Given the description of an element on the screen output the (x, y) to click on. 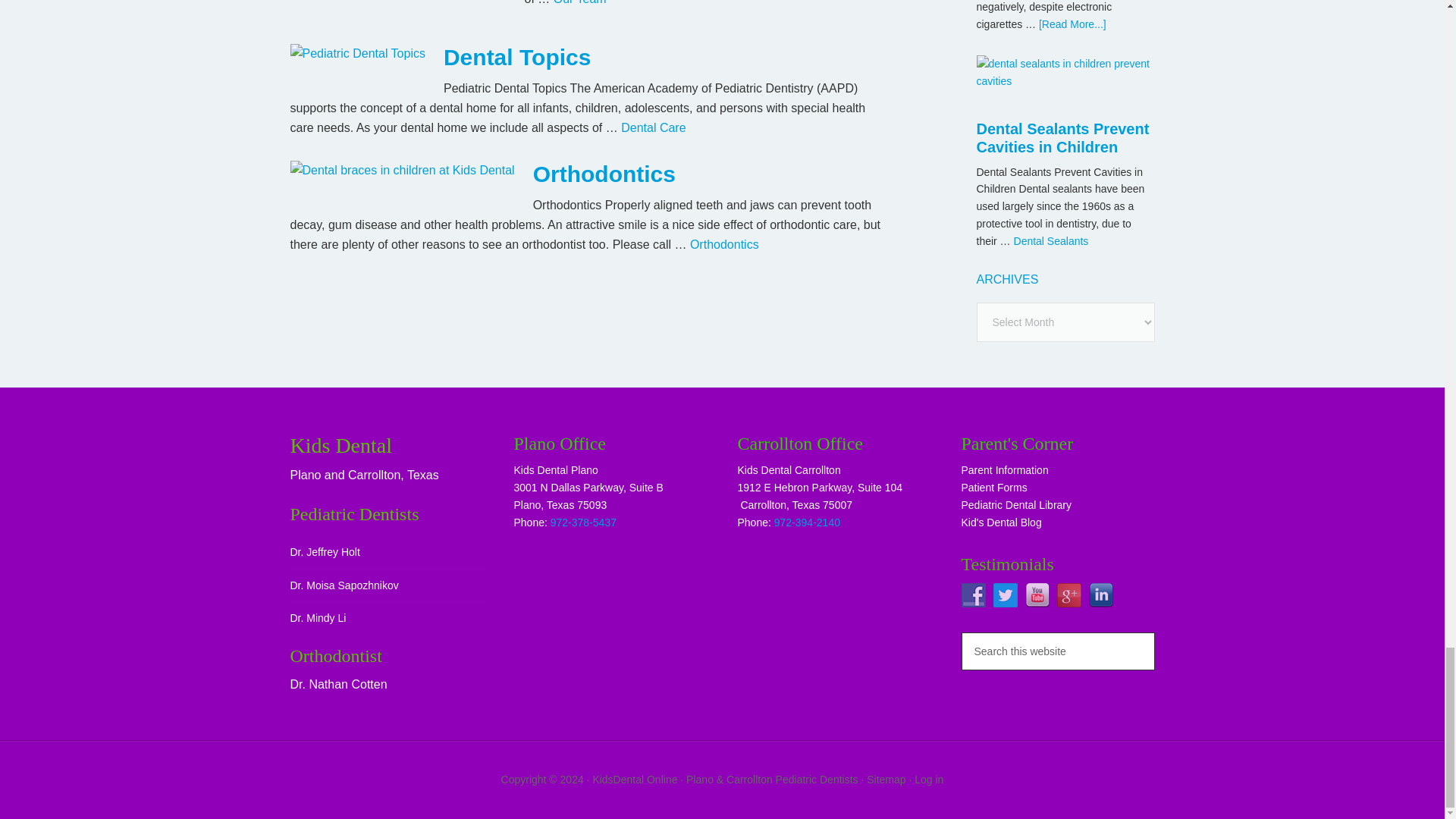
Follow Us on YouTube (1037, 595)
Follow Us on Twitter (1004, 595)
Follow Us on Facebook (972, 595)
